Given the description of an element on the screen output the (x, y) to click on. 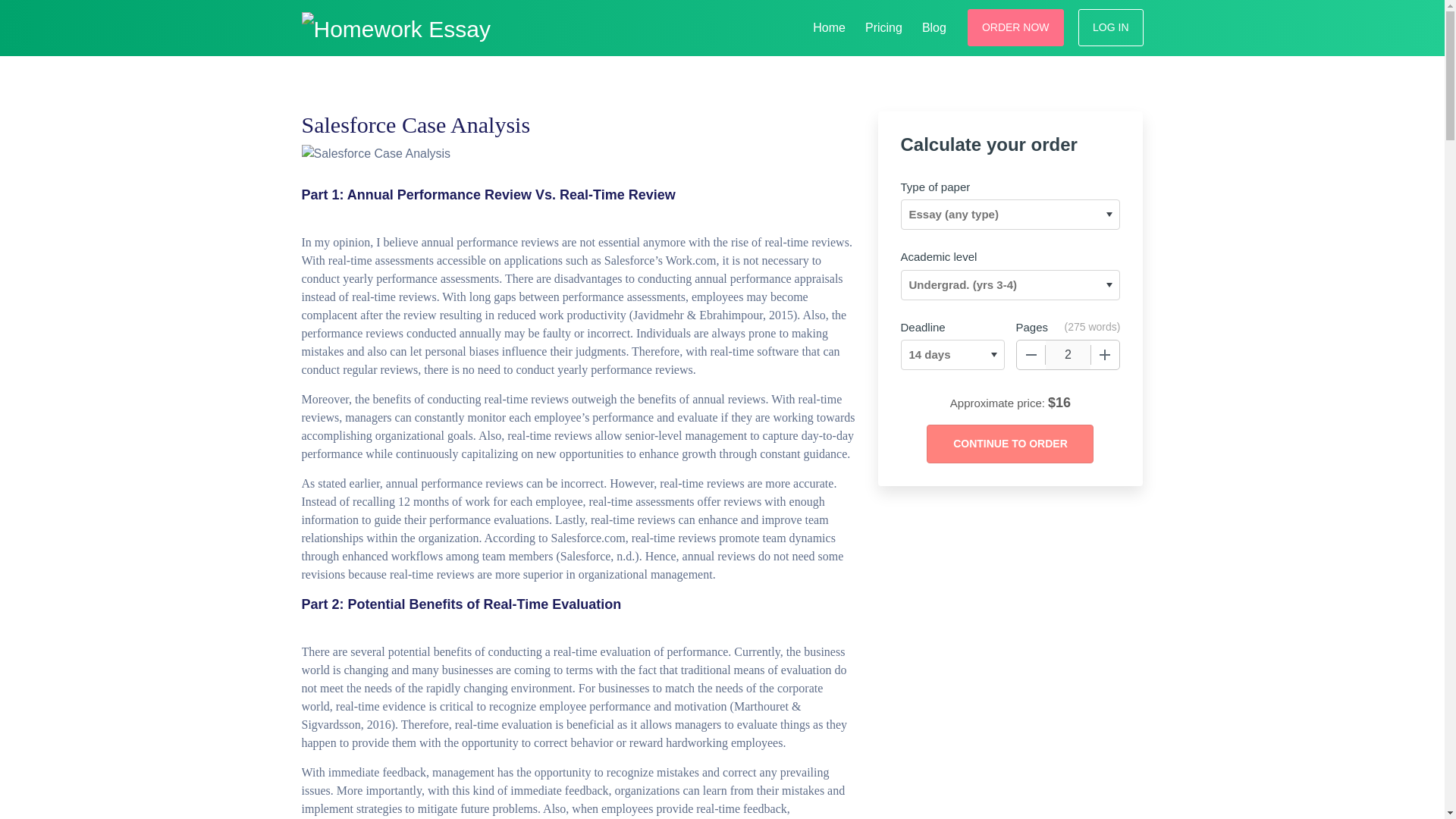
LOG IN (1110, 27)
Home (828, 25)
Decrease (1030, 354)
Pricing (883, 25)
Blog (933, 25)
2 (1067, 354)
Pricing (883, 25)
ORDER NOW (1016, 27)
Continue to order (1009, 444)
Blog (933, 25)
Home (828, 25)
Increase (1104, 354)
Continue to order (1009, 444)
